Given the description of an element on the screen output the (x, y) to click on. 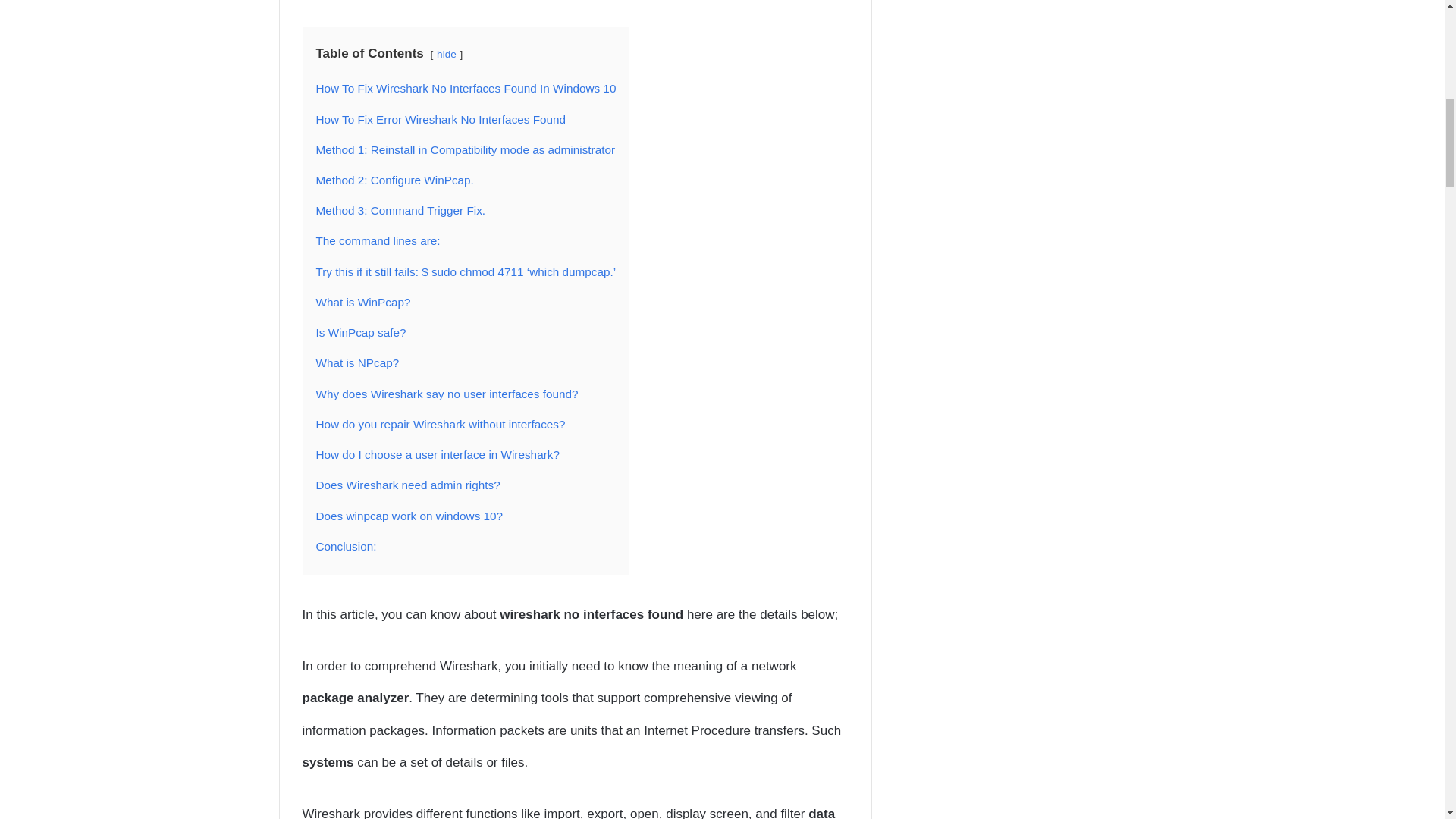
What is NPcap? (356, 362)
hide (446, 53)
Method 2: Configure WinPcap. (394, 179)
Method 3: Command Trigger Fix. (399, 210)
How do I choose a user interface in Wireshark? (437, 454)
Does Wireshark need admin rights? (407, 484)
Is WinPcap safe? (360, 332)
How To Fix Wireshark No Interfaces Found In Windows 10 (465, 88)
How do you repair Wireshark without interfaces? (439, 423)
Conclusion: (345, 545)
How To Fix Error Wireshark No Interfaces Found (440, 119)
Method 1: Reinstall in Compatibility mode as administrator (464, 149)
What is WinPcap? (362, 301)
The command lines are: (377, 240)
Does winpcap work on windows 10? (408, 515)
